Given the description of an element on the screen output the (x, y) to click on. 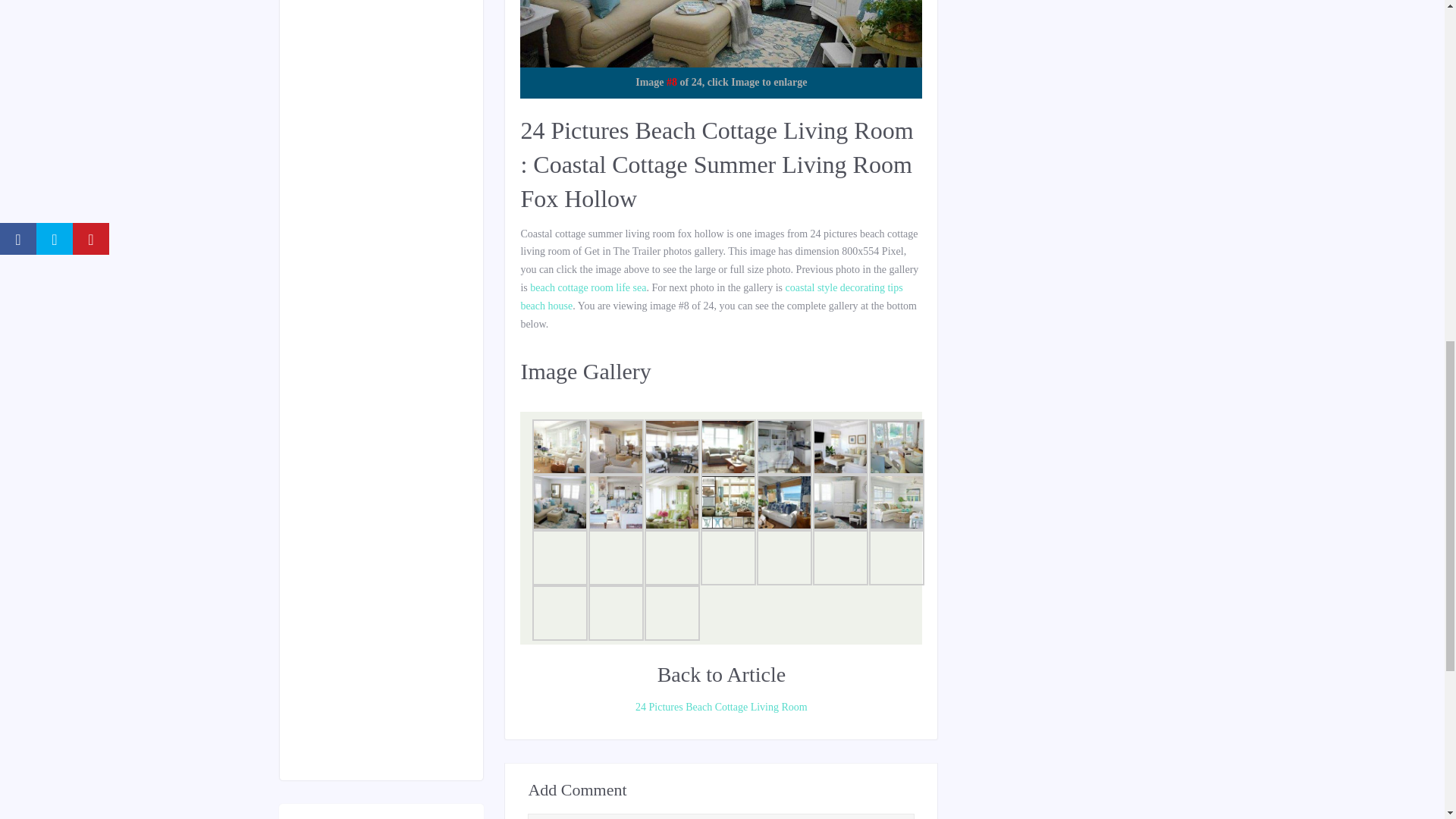
beach cottage room life sea (587, 287)
coastal style decorating tips beach house (710, 296)
24 Pictures Beach Cottage Living Room (720, 707)
